Given the description of an element on the screen output the (x, y) to click on. 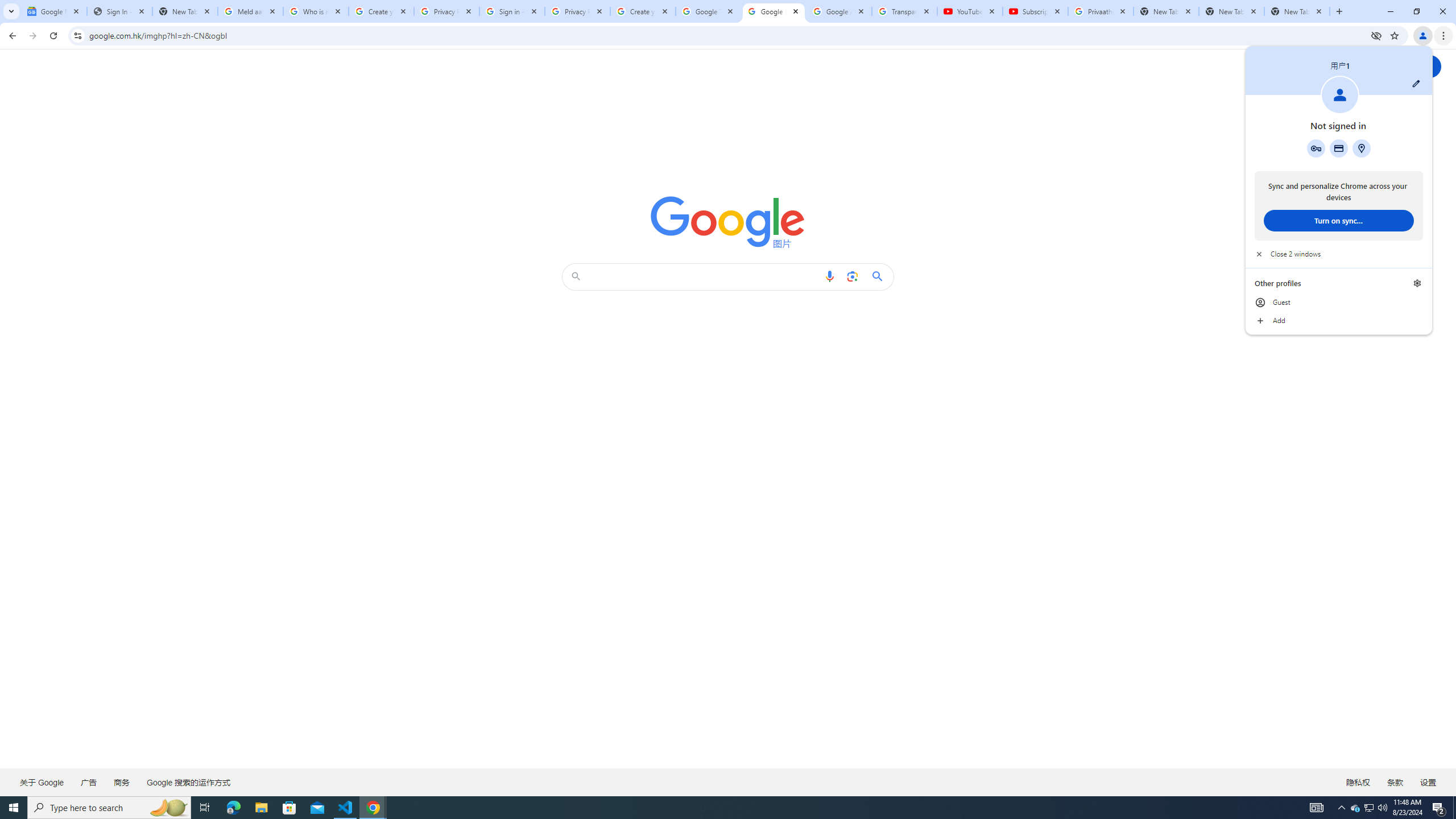
Running applications (717, 807)
Addresses and more (1361, 148)
Create your Google Account (381, 11)
New Tab (1297, 11)
Action Center, 2 new notifications (1439, 807)
